Given the description of an element on the screen output the (x, y) to click on. 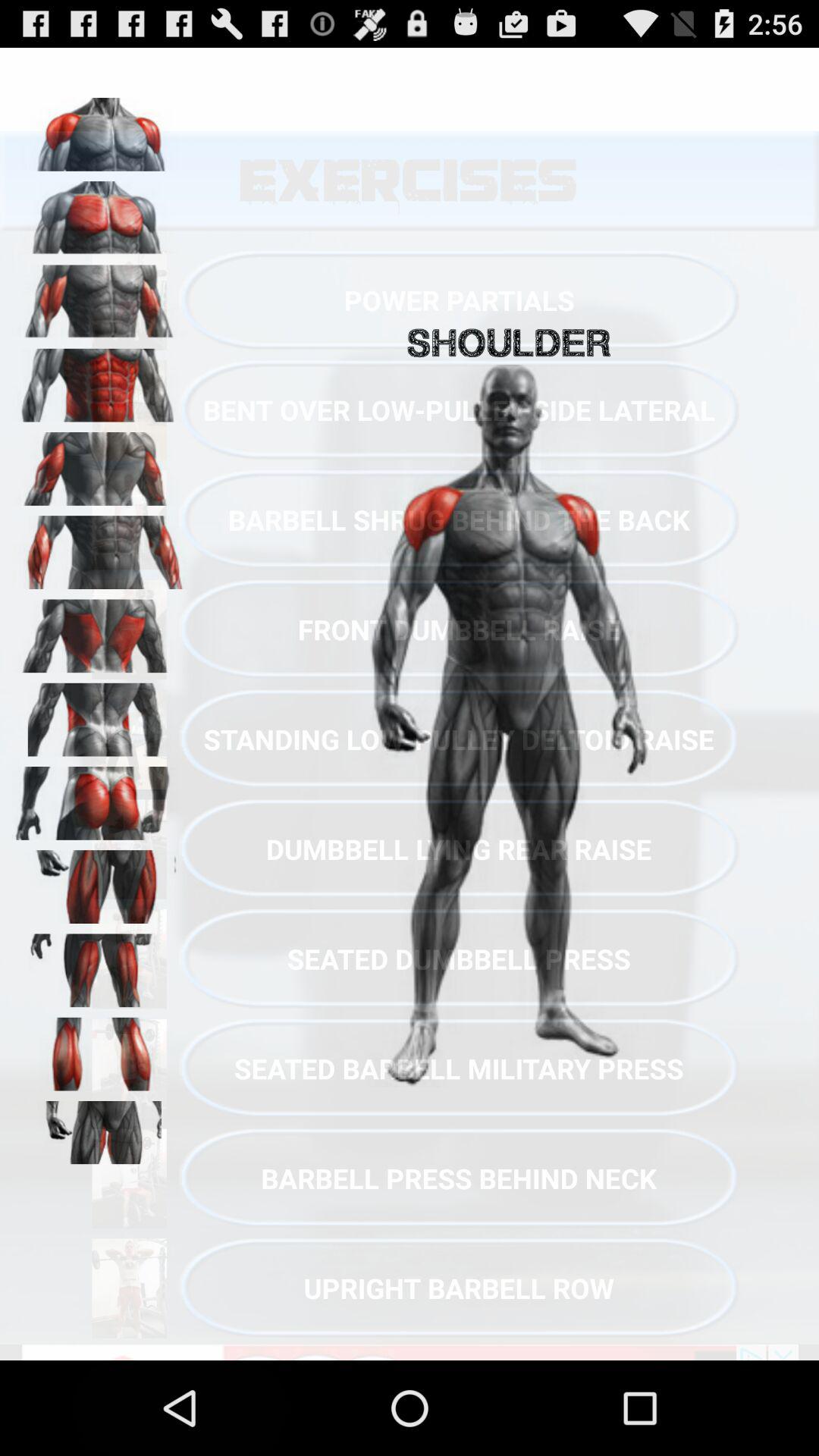
select abs (99, 380)
